Given the description of an element on the screen output the (x, y) to click on. 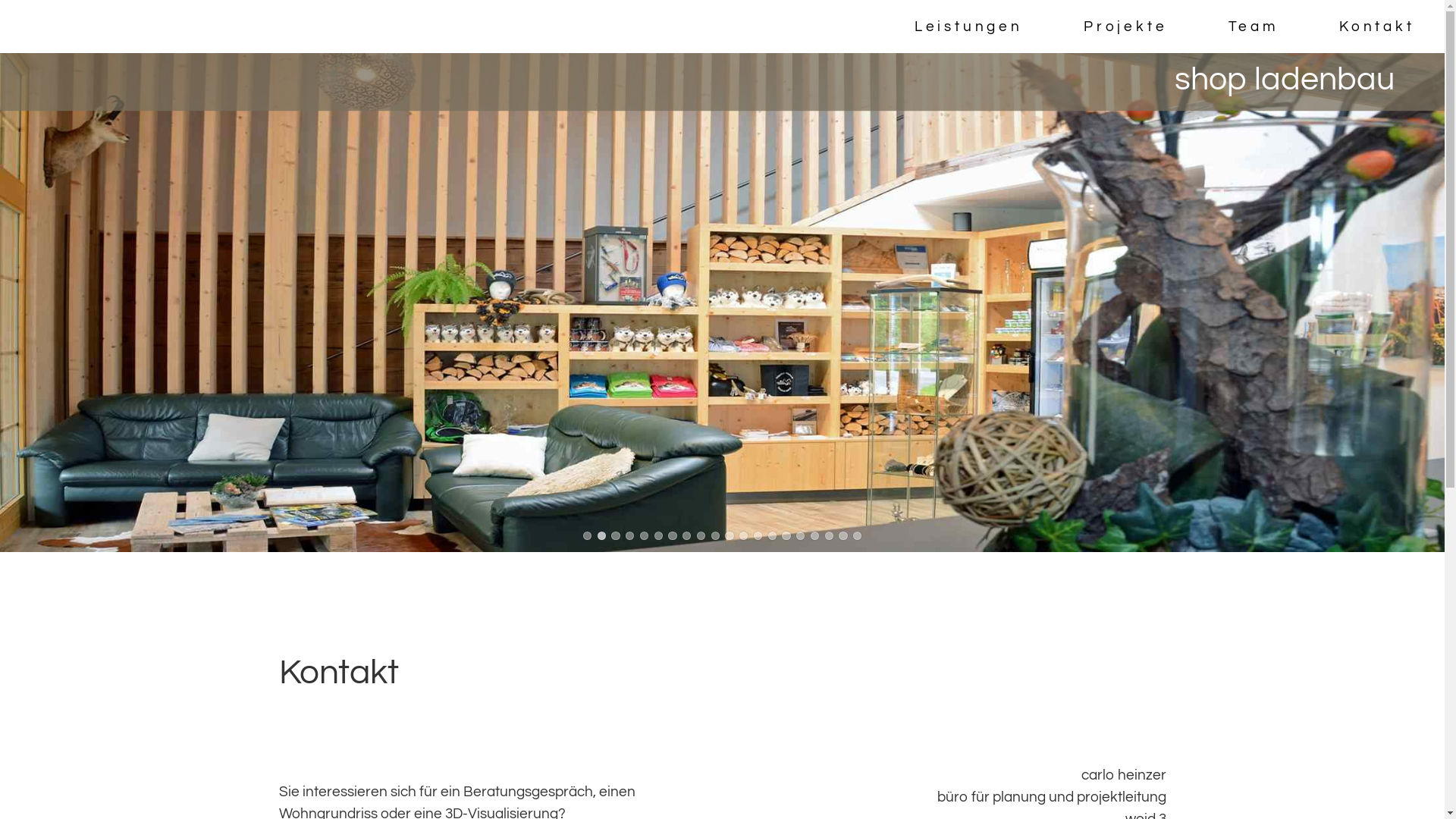
Startseite Element type: hover (144, 37)
Projekte Element type: text (1124, 26)
Team Element type: text (1252, 26)
Leistungen Element type: text (967, 26)
Kontakt Element type: text (1375, 26)
